Given the description of an element on the screen output the (x, y) to click on. 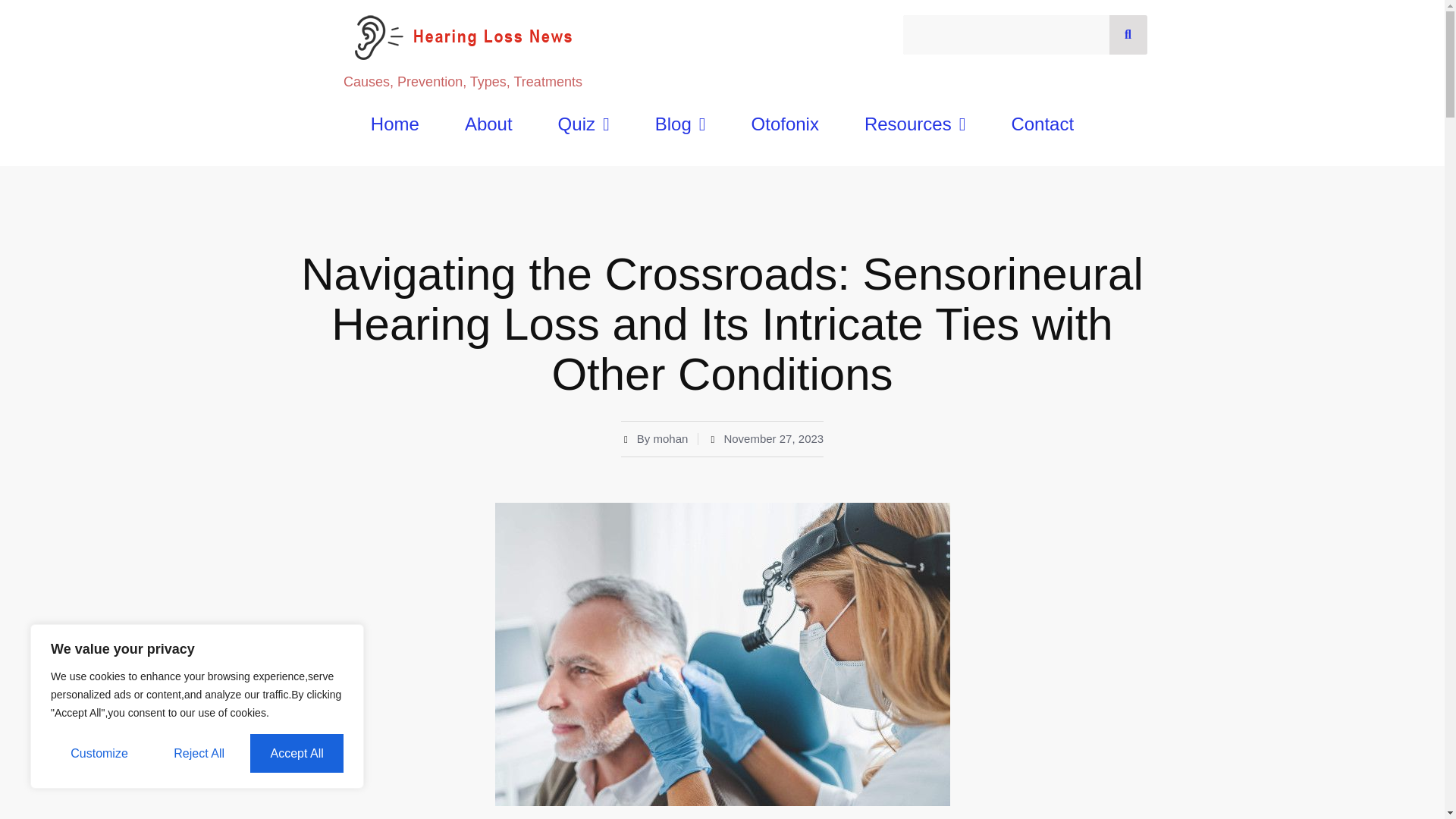
Quiz (583, 124)
Customize (99, 753)
Blog (680, 124)
Home (394, 124)
Accept All (296, 753)
Otofonix (785, 124)
Resources (913, 124)
Reject All (199, 753)
About (488, 124)
